Given the description of an element on the screen output the (x, y) to click on. 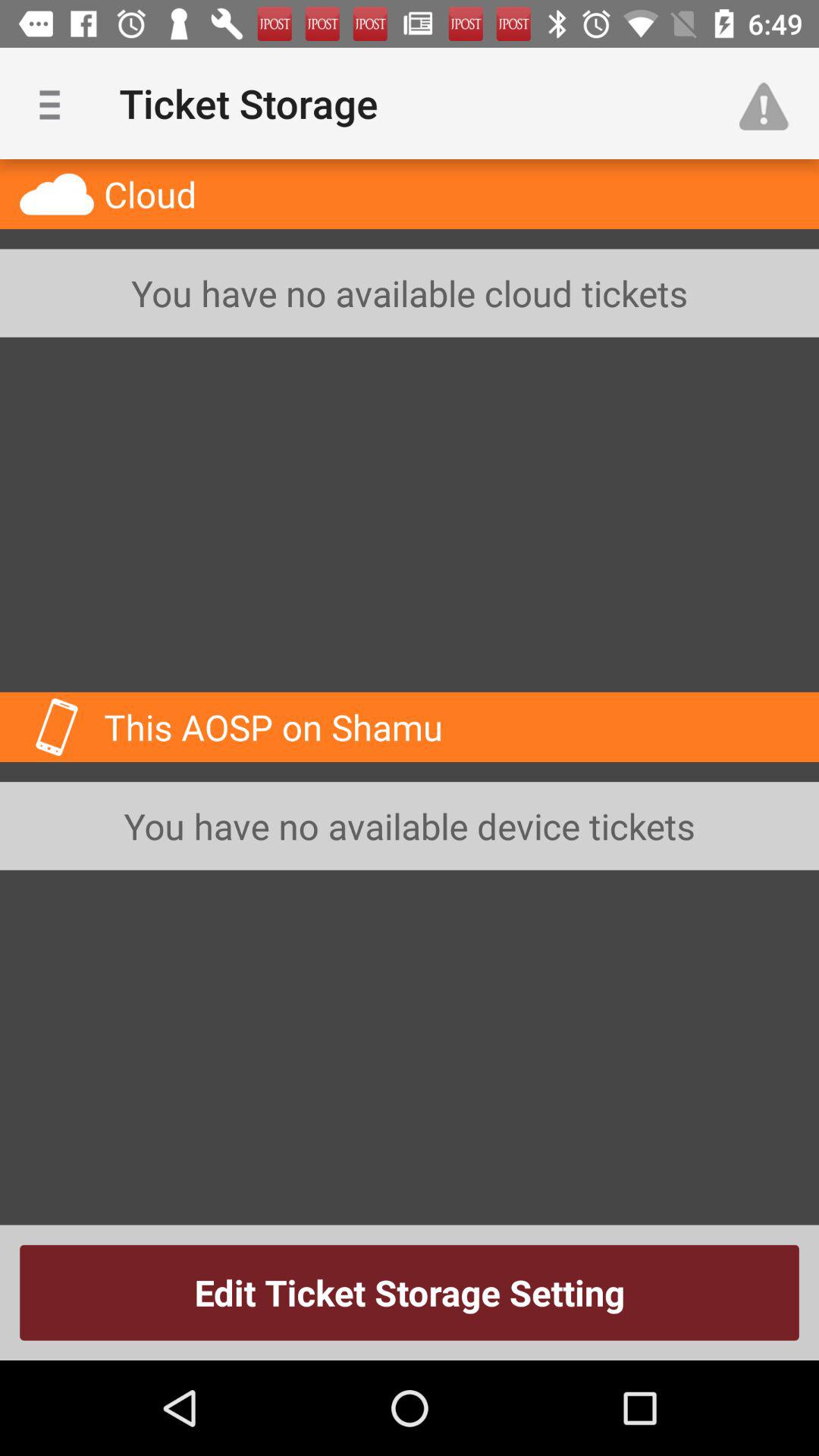
tap item to the left of ticket storage app (55, 103)
